Given the description of an element on the screen output the (x, y) to click on. 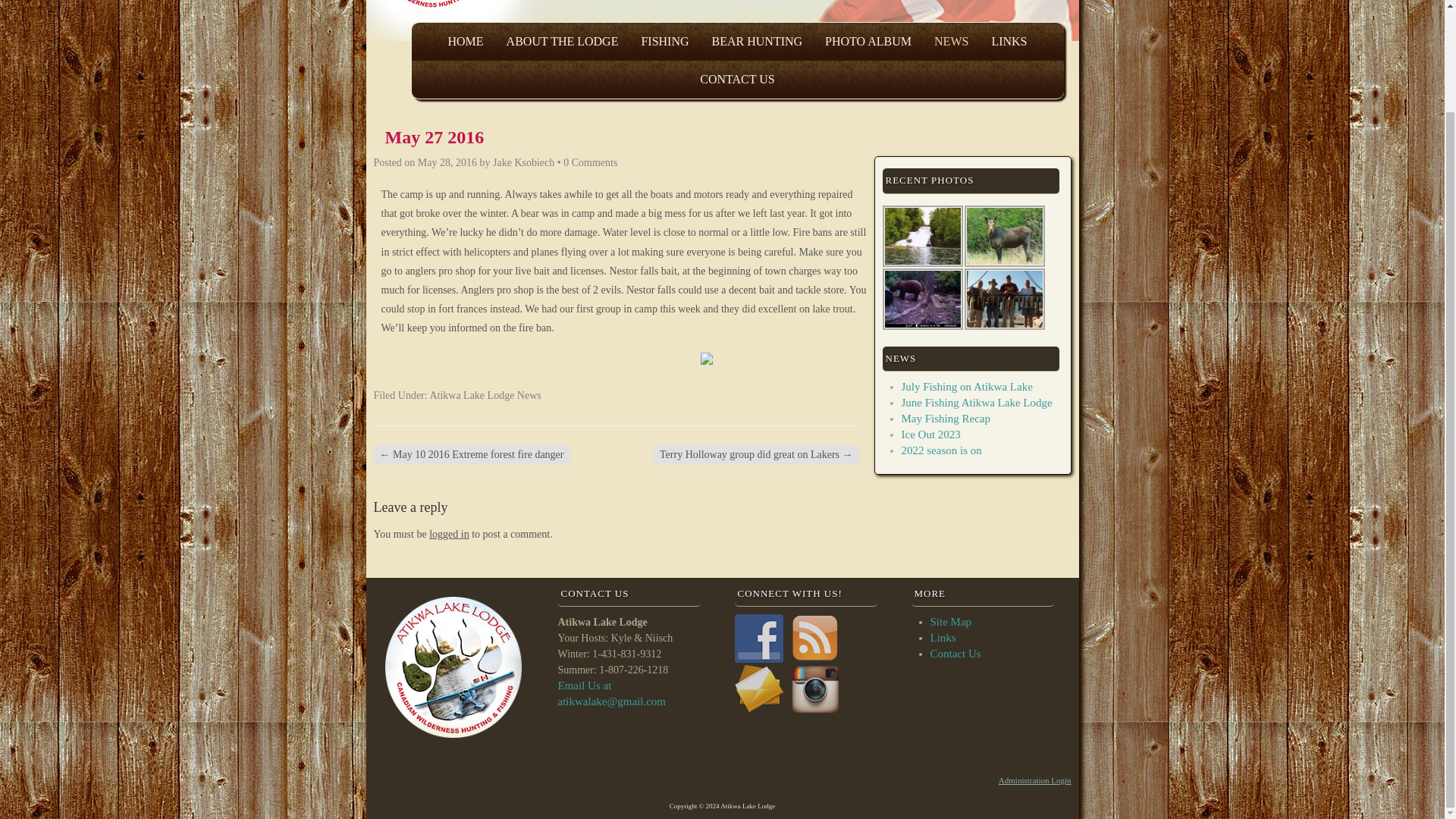
PHOTO ALBUM (868, 41)
May Fishing Recap (945, 418)
Ice Out 2023 (930, 434)
Follow Us on Instagram (814, 689)
mooseinwoods (1004, 235)
HOME (465, 41)
Follow Us on E-mail (758, 689)
July Fishing on Atikwa Lake (966, 386)
waterfall (922, 235)
Links (942, 637)
Follow Us on Facebook (758, 638)
Follow Us on RSS (814, 638)
ABOUT THE LODGE (562, 41)
0 Comments (590, 162)
Site Map (950, 621)
